Given the description of an element on the screen output the (x, y) to click on. 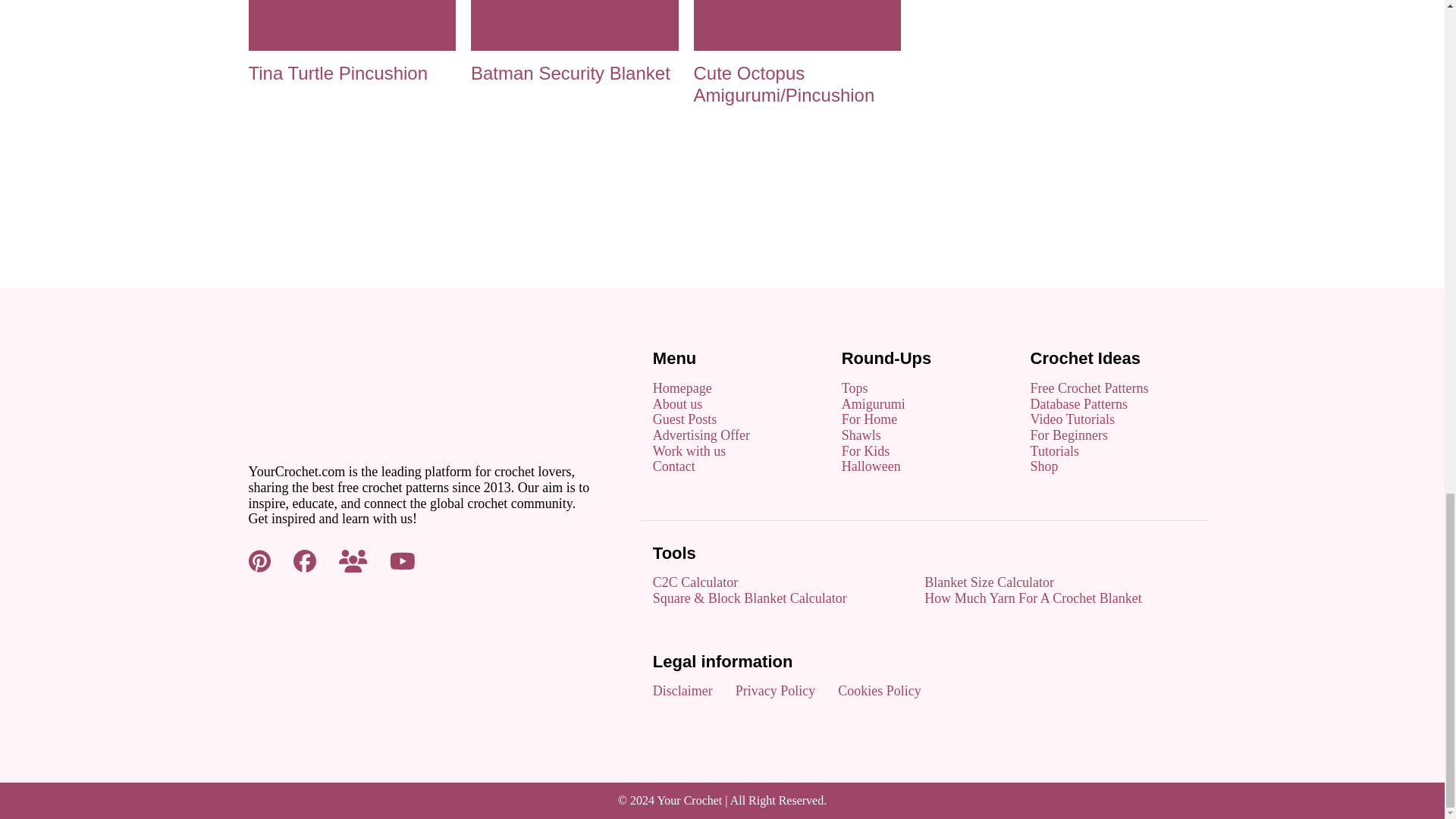
Pinterest YourCrochet (259, 559)
Facebook YourCrochet (304, 559)
Facebook Group YourCrochet (353, 559)
Youtube YourCrochet (402, 559)
